Given the description of an element on the screen output the (x, y) to click on. 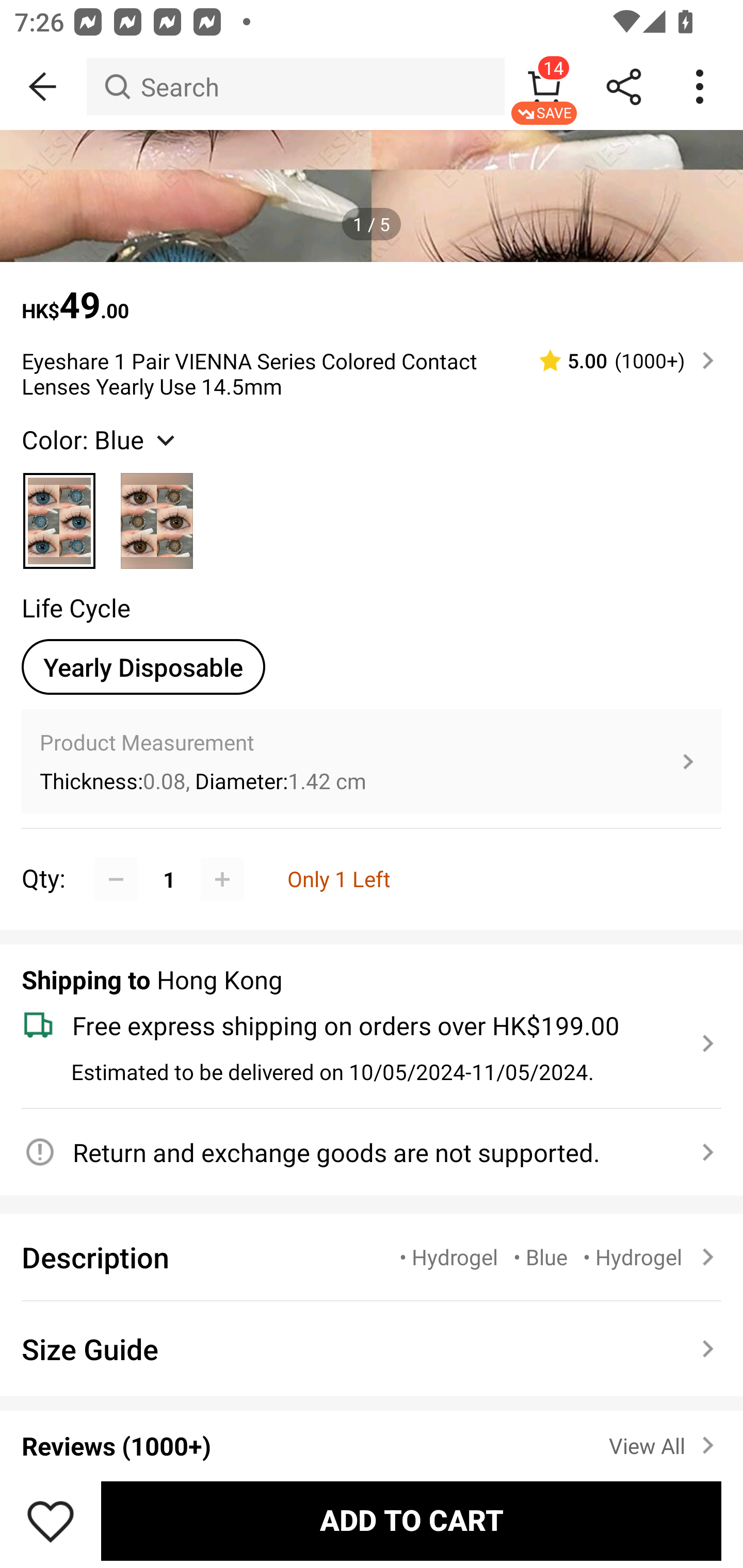
BACK (43, 86)
14 SAVE (543, 87)
Search (295, 87)
1 / 5 (371, 224)
HK$49.00 (371, 294)
5.00 (1000‎+) (617, 360)
Color: Blue (100, 438)
Blue (59, 512)
chocolate (156, 512)
Life Cycle (75, 607)
Yearly Disposable Yearly Disposableselected option (143, 666)
Qty: 1 Only 1 Left (371, 857)
Return and exchange goods are not supported. (359, 1152)
Size Guide (371, 1348)
View All (664, 1441)
ADD TO CART (411, 1520)
Save (50, 1520)
